Given the description of an element on the screen output the (x, y) to click on. 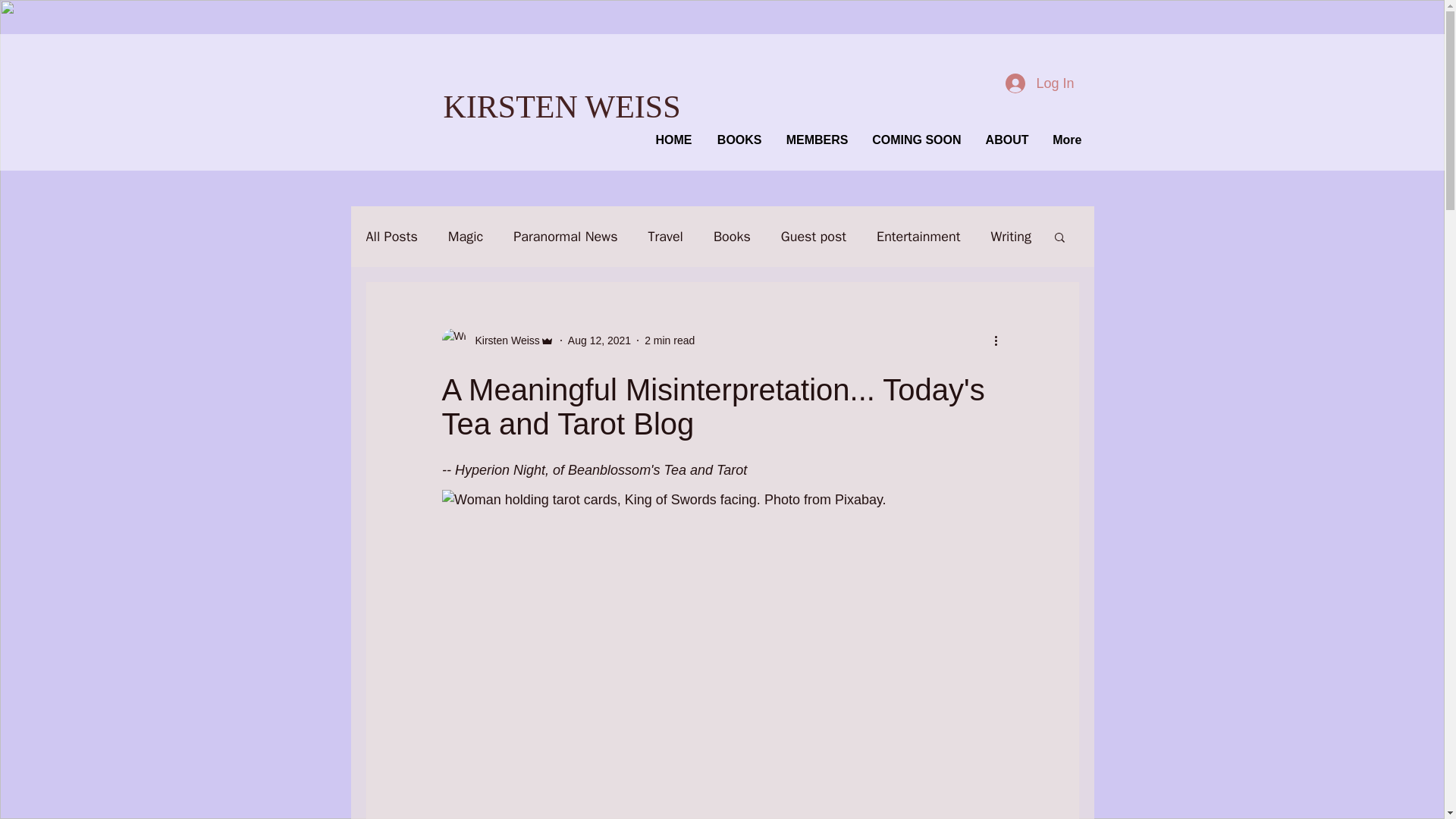
ABOUT (1002, 139)
Writing (1010, 236)
Entertainment (917, 236)
All Posts (390, 236)
COMING SOON (913, 139)
Travel (664, 236)
Aug 12, 2021 (598, 340)
Guest post (812, 236)
Log In (1039, 82)
Kirsten Weiss (501, 340)
